Given the description of an element on the screen output the (x, y) to click on. 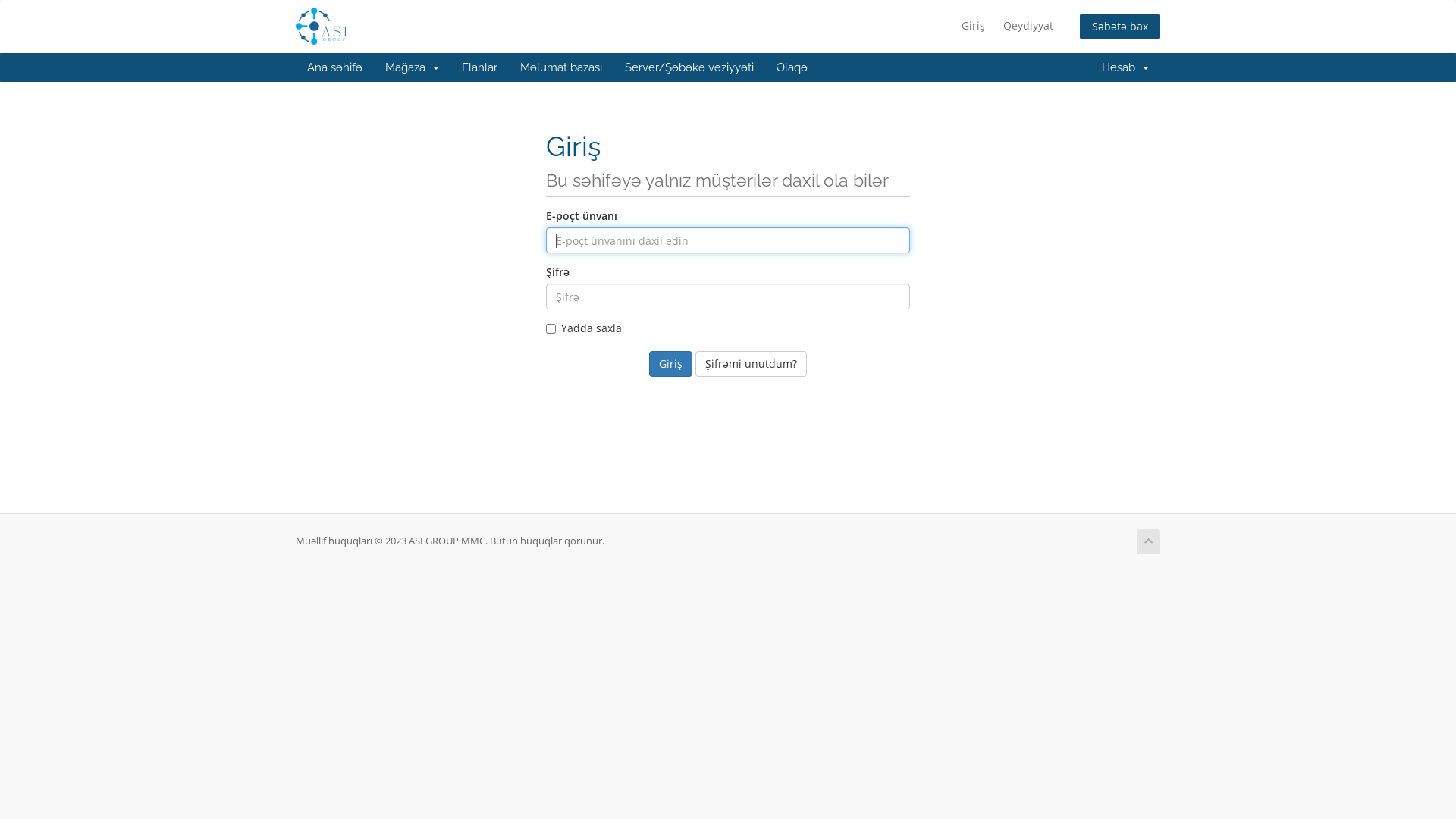
Elanlar Element type: text (479, 67)
Qeydiyyat Element type: text (1027, 25)
Hesab   Element type: text (1125, 67)
